Given the description of an element on the screen output the (x, y) to click on. 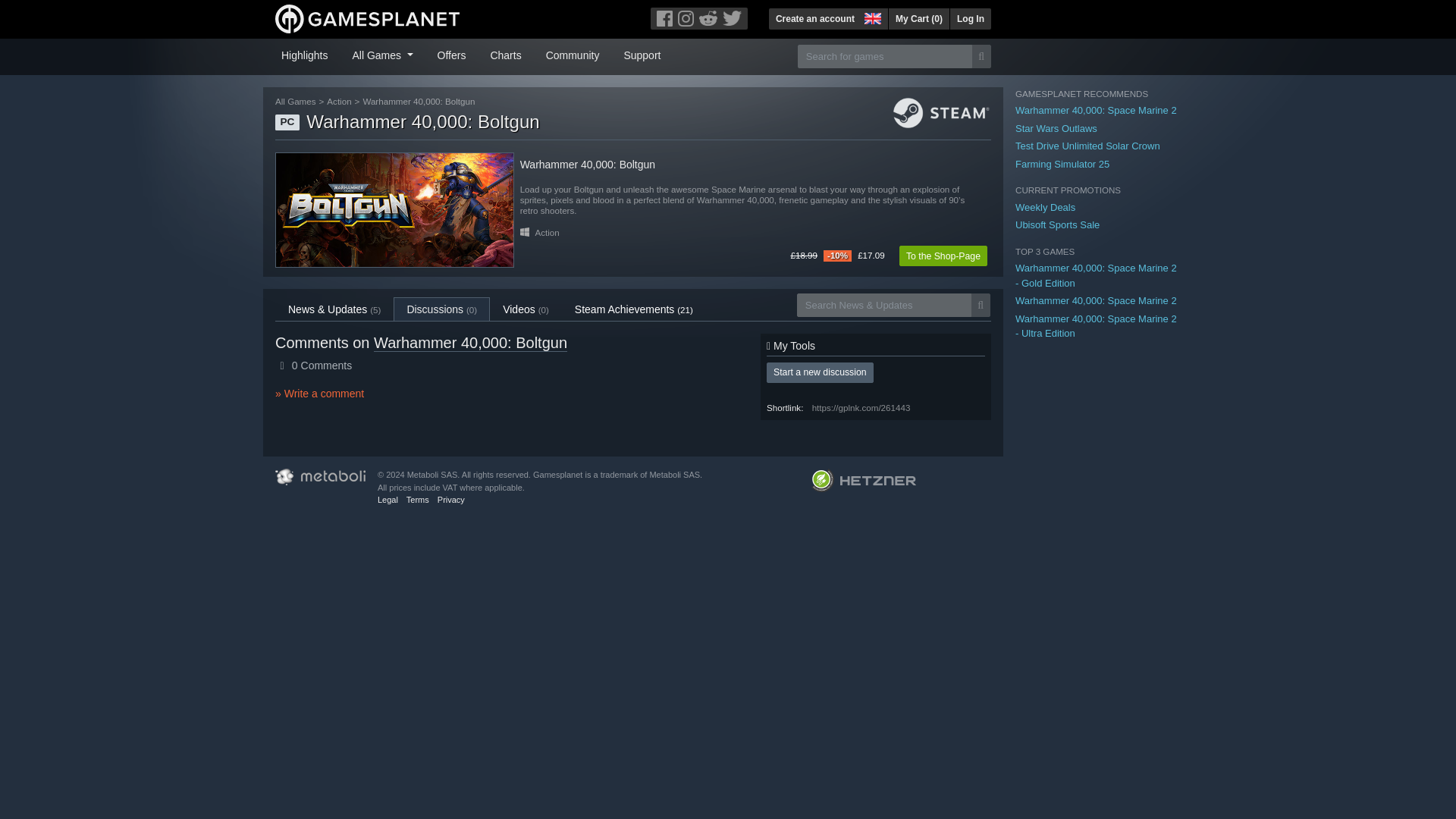
Warhammer 40,000: Boltgun (394, 209)
translation missing: en-GB.community.tabs.videos (518, 309)
Highlights (304, 53)
Create an account (815, 18)
Log In (970, 18)
All Games (382, 53)
